Given the description of an element on the screen output the (x, y) to click on. 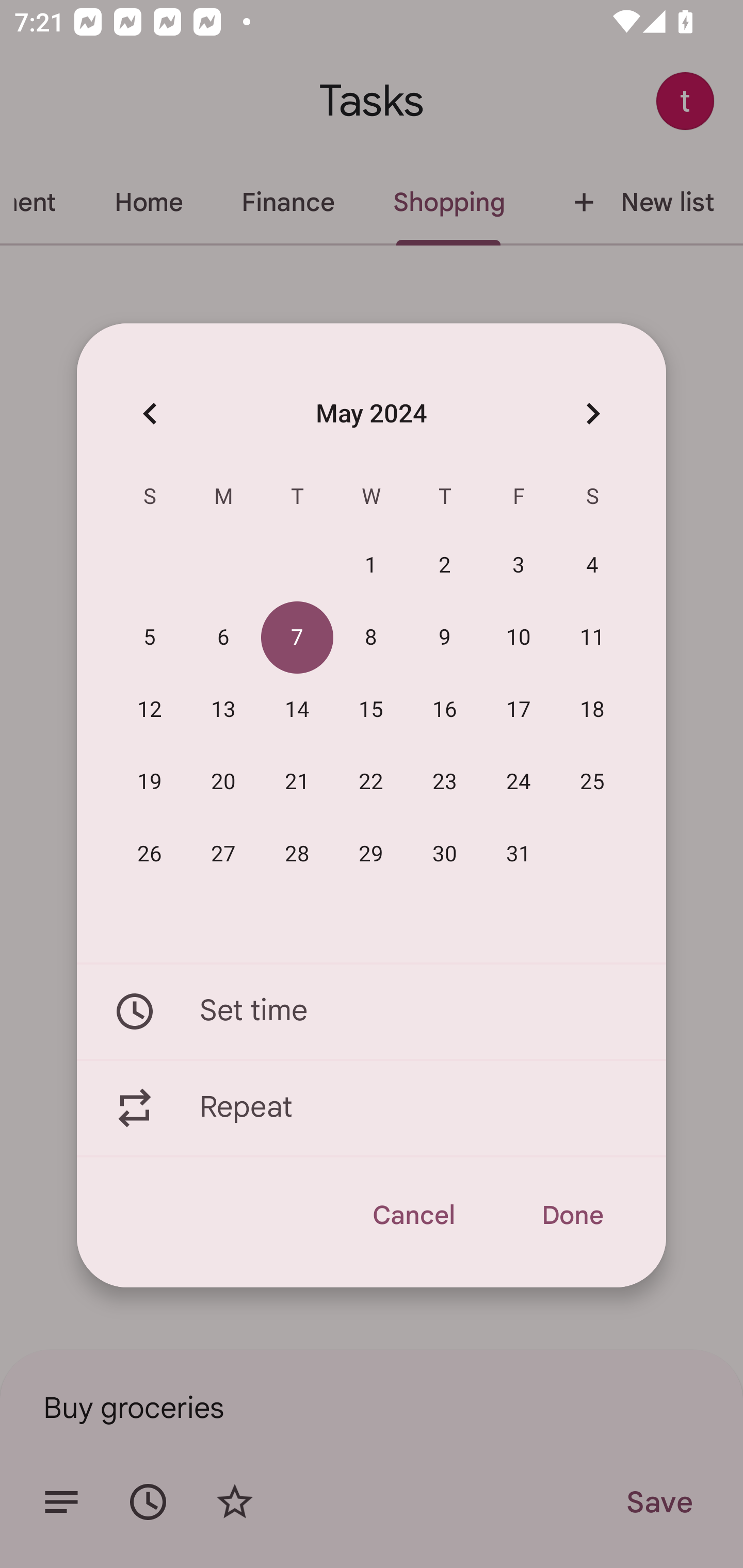
Previous month (149, 413)
Next month (592, 413)
1 01 May 2024 (370, 565)
2 02 May 2024 (444, 565)
3 03 May 2024 (518, 565)
4 04 May 2024 (592, 565)
5 05 May 2024 (149, 638)
6 06 May 2024 (223, 638)
7 07 May 2024 (297, 638)
8 08 May 2024 (370, 638)
9 09 May 2024 (444, 638)
10 10 May 2024 (518, 638)
11 11 May 2024 (592, 638)
12 12 May 2024 (149, 710)
13 13 May 2024 (223, 710)
14 14 May 2024 (297, 710)
15 15 May 2024 (370, 710)
16 16 May 2024 (444, 710)
17 17 May 2024 (518, 710)
18 18 May 2024 (592, 710)
19 19 May 2024 (149, 782)
20 20 May 2024 (223, 782)
21 21 May 2024 (297, 782)
22 22 May 2024 (370, 782)
23 23 May 2024 (444, 782)
24 24 May 2024 (518, 782)
25 25 May 2024 (592, 782)
26 26 May 2024 (149, 854)
27 27 May 2024 (223, 854)
28 28 May 2024 (297, 854)
29 29 May 2024 (370, 854)
30 30 May 2024 (444, 854)
31 31 May 2024 (518, 854)
Set time (371, 1011)
Repeat (371, 1108)
Cancel (412, 1215)
Done (571, 1215)
